Given the description of an element on the screen output the (x, y) to click on. 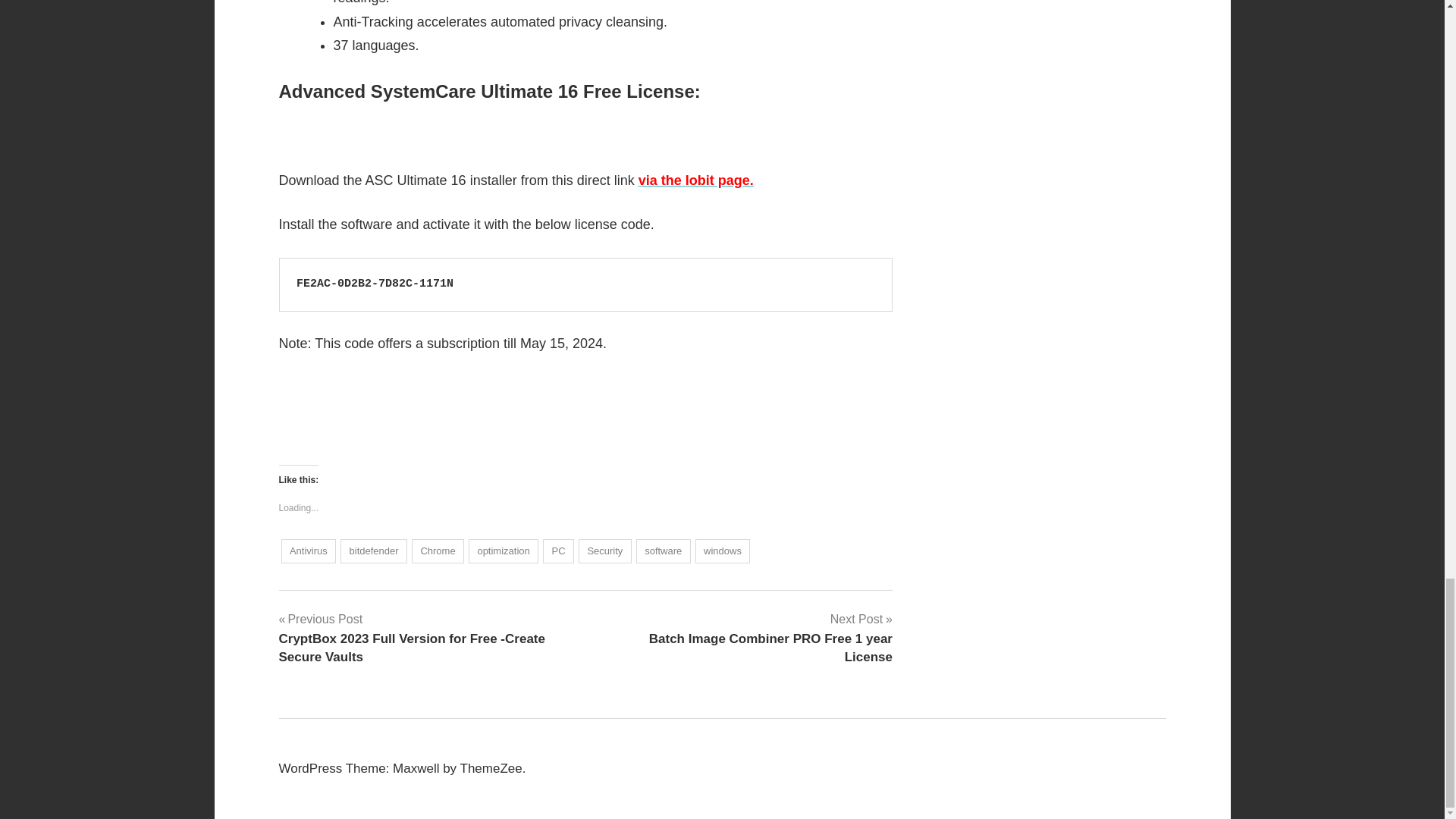
via the Iobit page. (696, 180)
Security (604, 551)
windows (744, 637)
bitdefender (723, 551)
Chrome (373, 551)
software (438, 551)
optimization (663, 551)
PC (503, 551)
Antivirus (558, 551)
